Given the description of an element on the screen output the (x, y) to click on. 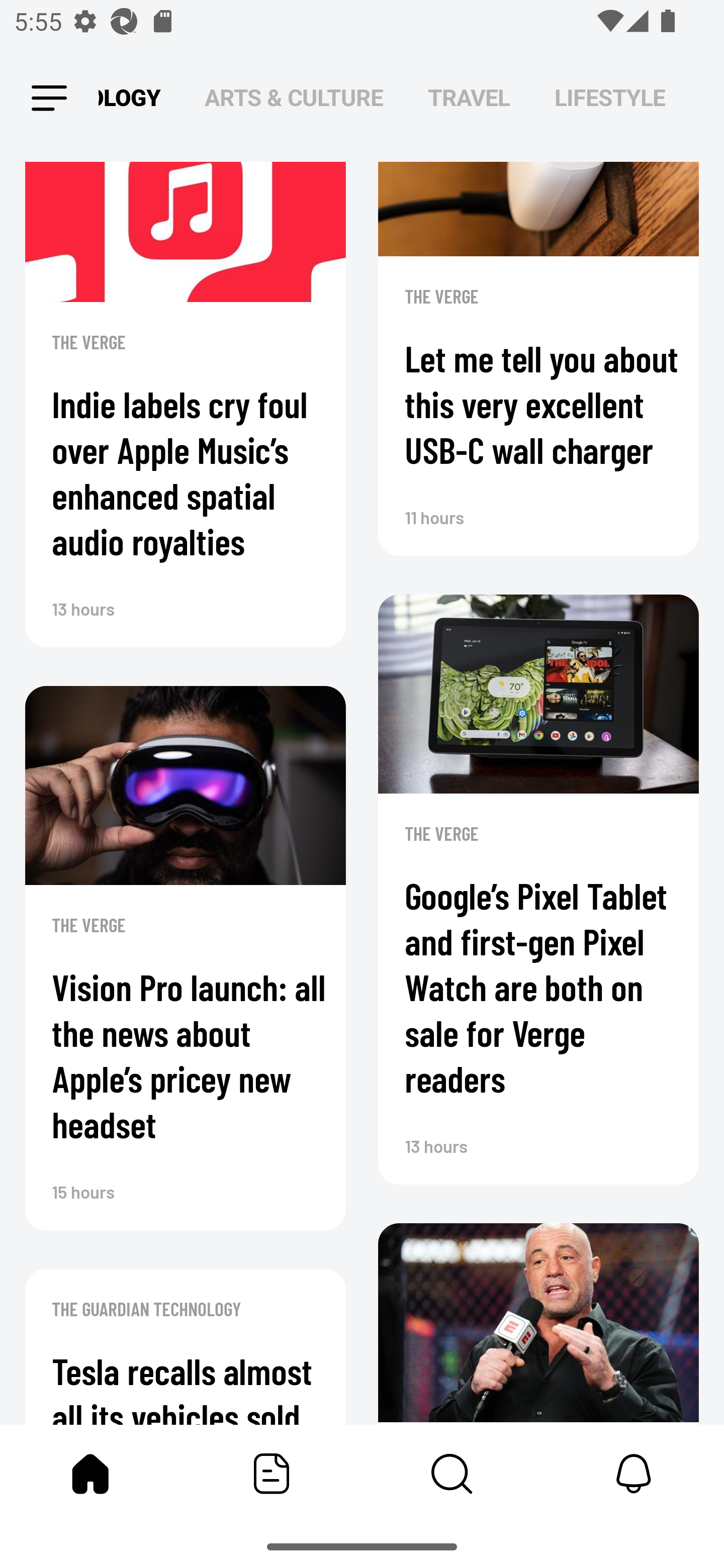
Leading Icon (49, 98)
ARTS & CULTURE (293, 97)
TRAVEL (469, 97)
LIFESTYLE (609, 97)
Featured (271, 1473)
Content Store (452, 1473)
Notifications (633, 1473)
